Given the description of an element on the screen output the (x, y) to click on. 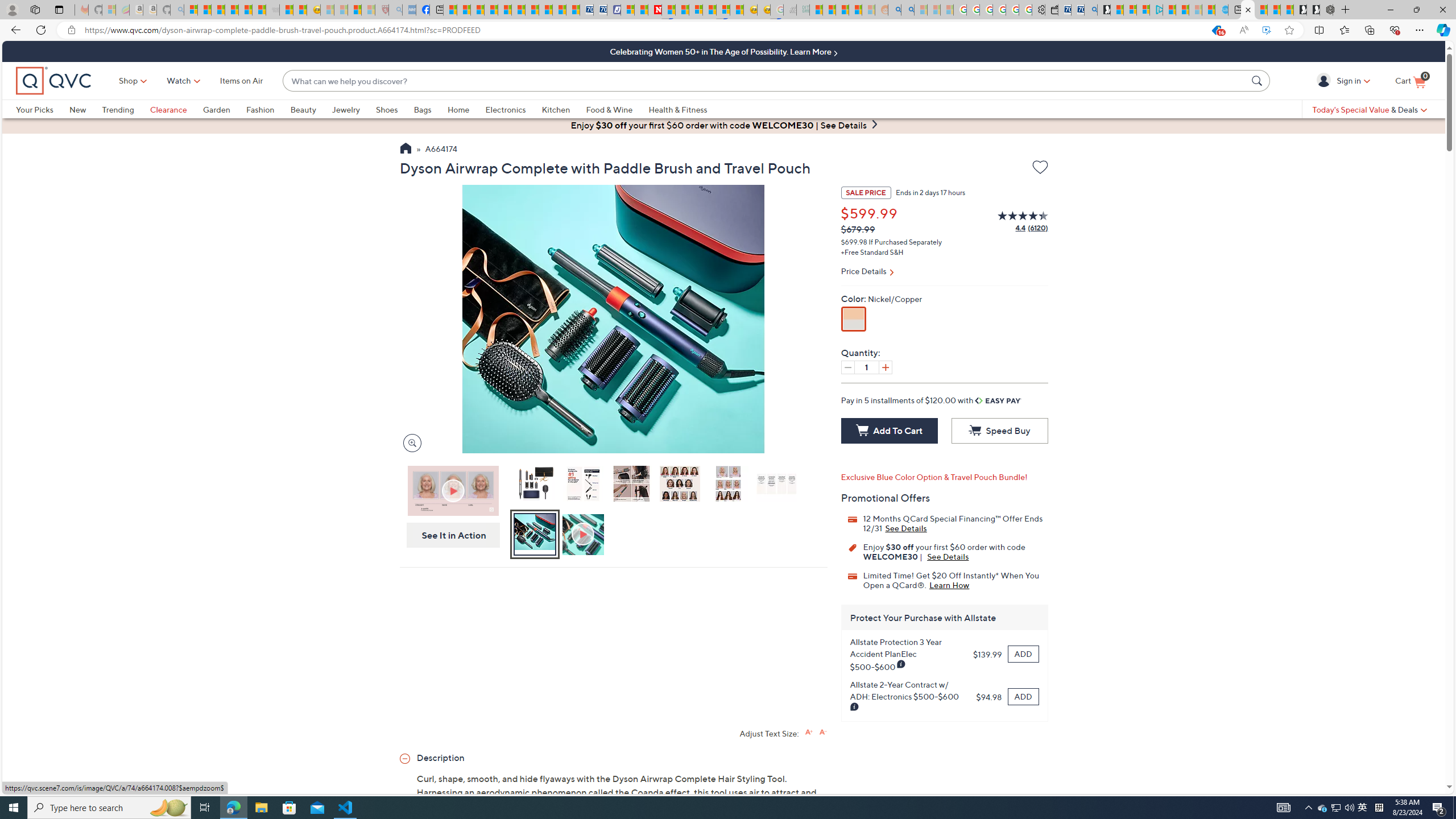
Sign in (1325, 80)
A664174 (441, 149)
Garden (224, 109)
Jewelry (345, 109)
New (84, 109)
Electronics (512, 109)
Cheap Hotels - Save70.com (599, 9)
Health & Fitness (680, 109)
Food & Wine (617, 109)
Recipes - MSN - Sleeping (327, 9)
Watch (178, 80)
Bags (421, 109)
Kitchen (563, 109)
